Given the description of an element on the screen output the (x, y) to click on. 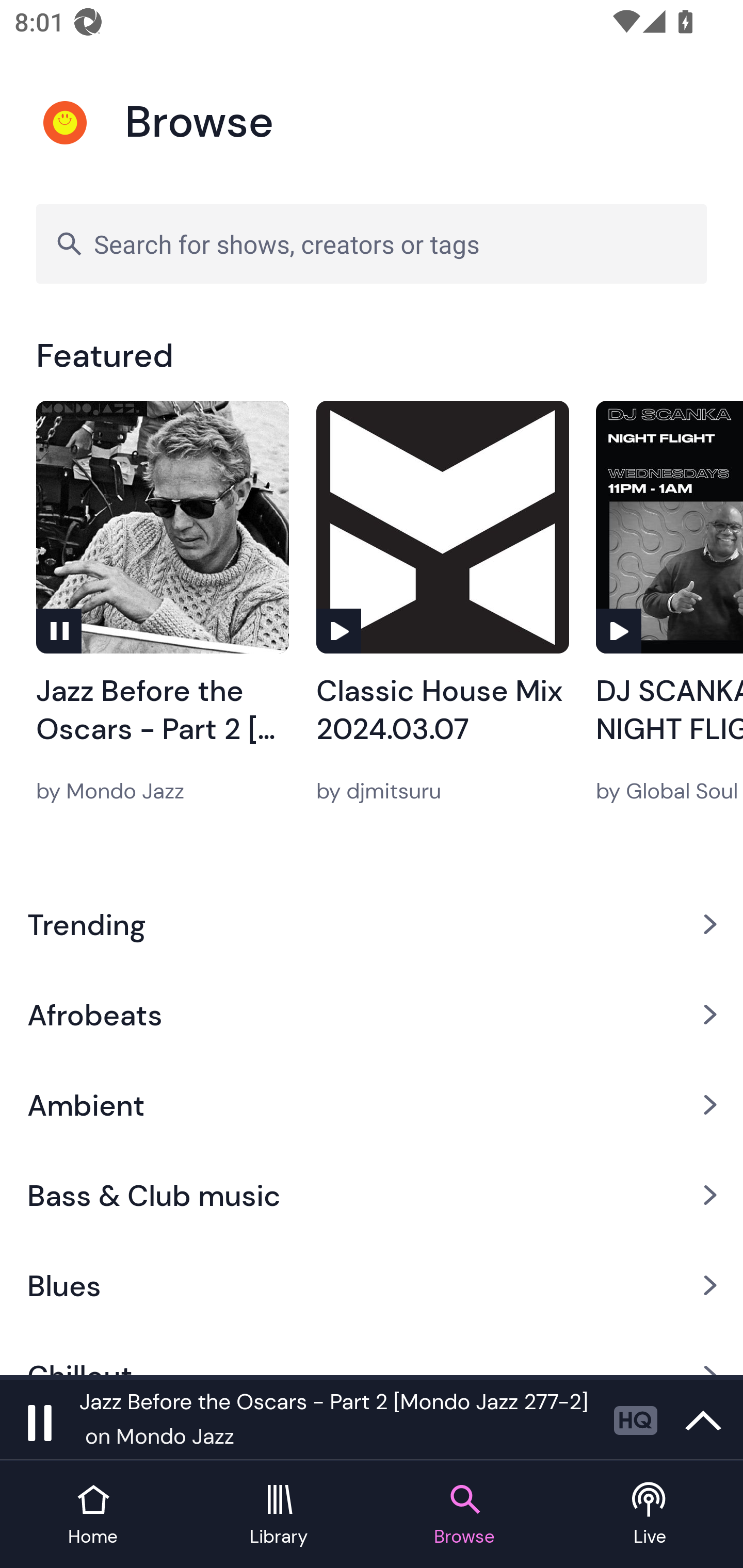
Search for shows, creators or tags (371, 243)
Trending (371, 924)
Afrobeats (371, 1014)
Ambient (371, 1104)
Bass & Club music (371, 1195)
Blues (371, 1285)
Home tab Home (92, 1515)
Library tab Library (278, 1515)
Browse tab Browse (464, 1515)
Live tab Live (650, 1515)
